Given the description of an element on the screen output the (x, y) to click on. 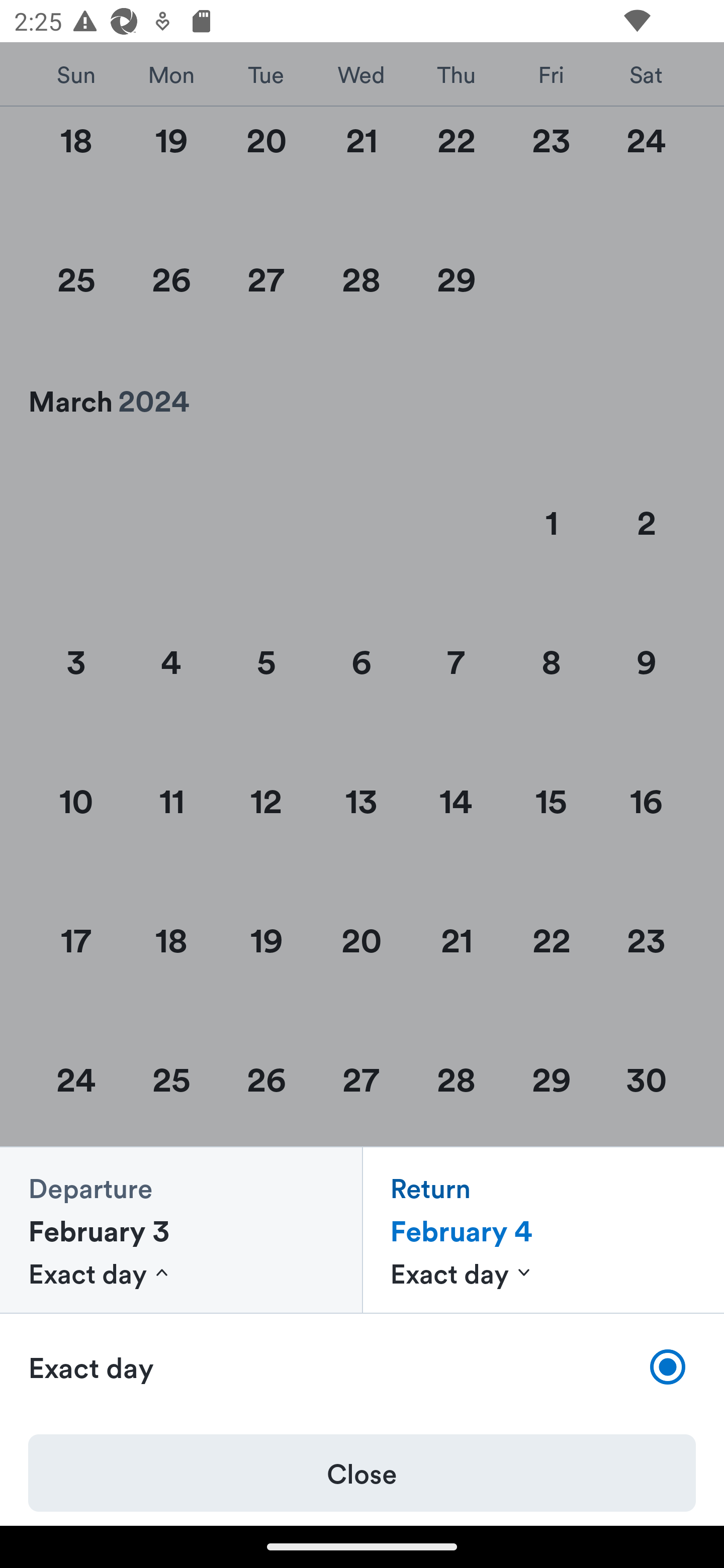
Exact day (362, 1366)
Close (361, 1472)
